Given the description of an element on the screen output the (x, y) to click on. 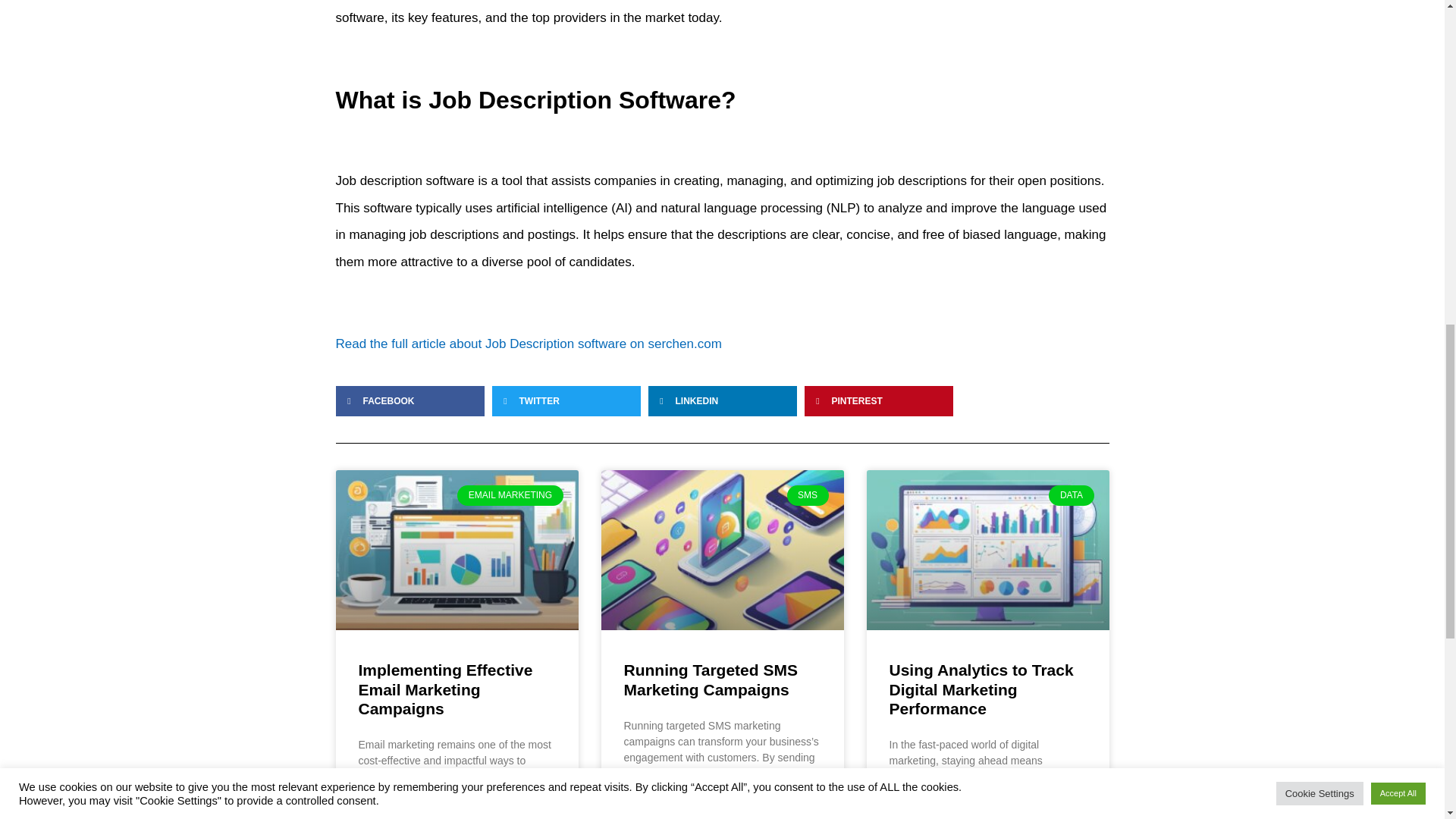
Implementing Effective Email Marketing Campaigns (445, 688)
Running Targeted SMS Marketing Campaigns (709, 678)
Using Analytics to Track Digital Marketing Performance (980, 688)
